Given the description of an element on the screen output the (x, y) to click on. 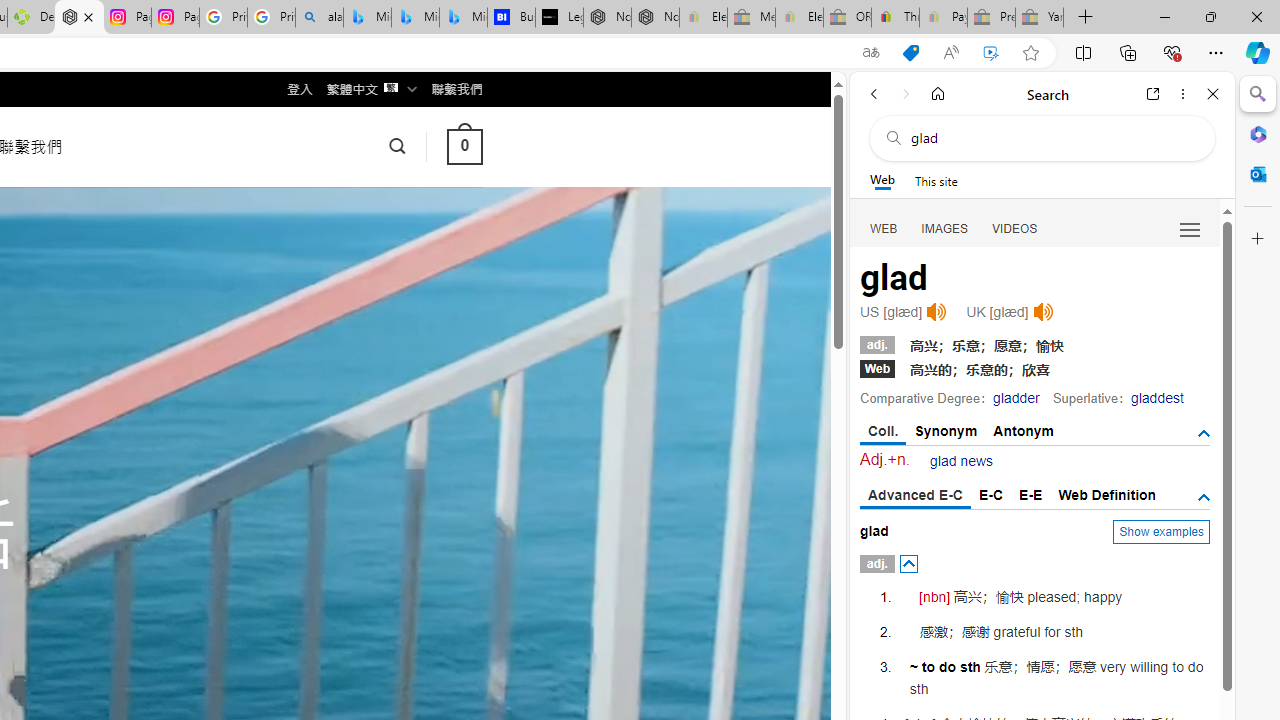
Payments Terms of Use | eBay.com - Sleeping (943, 17)
gladdest (1157, 398)
Settings and more (Alt+F) (1215, 52)
Outlook (1258, 174)
Split screen (1083, 52)
Close (1213, 93)
glad news (962, 461)
E-E (1030, 494)
New Tab (1085, 17)
Minimize (1164, 16)
Restore (1210, 16)
Copilot (Ctrl+Shift+.) (1258, 52)
Collections (1128, 52)
